Given the description of an element on the screen output the (x, y) to click on. 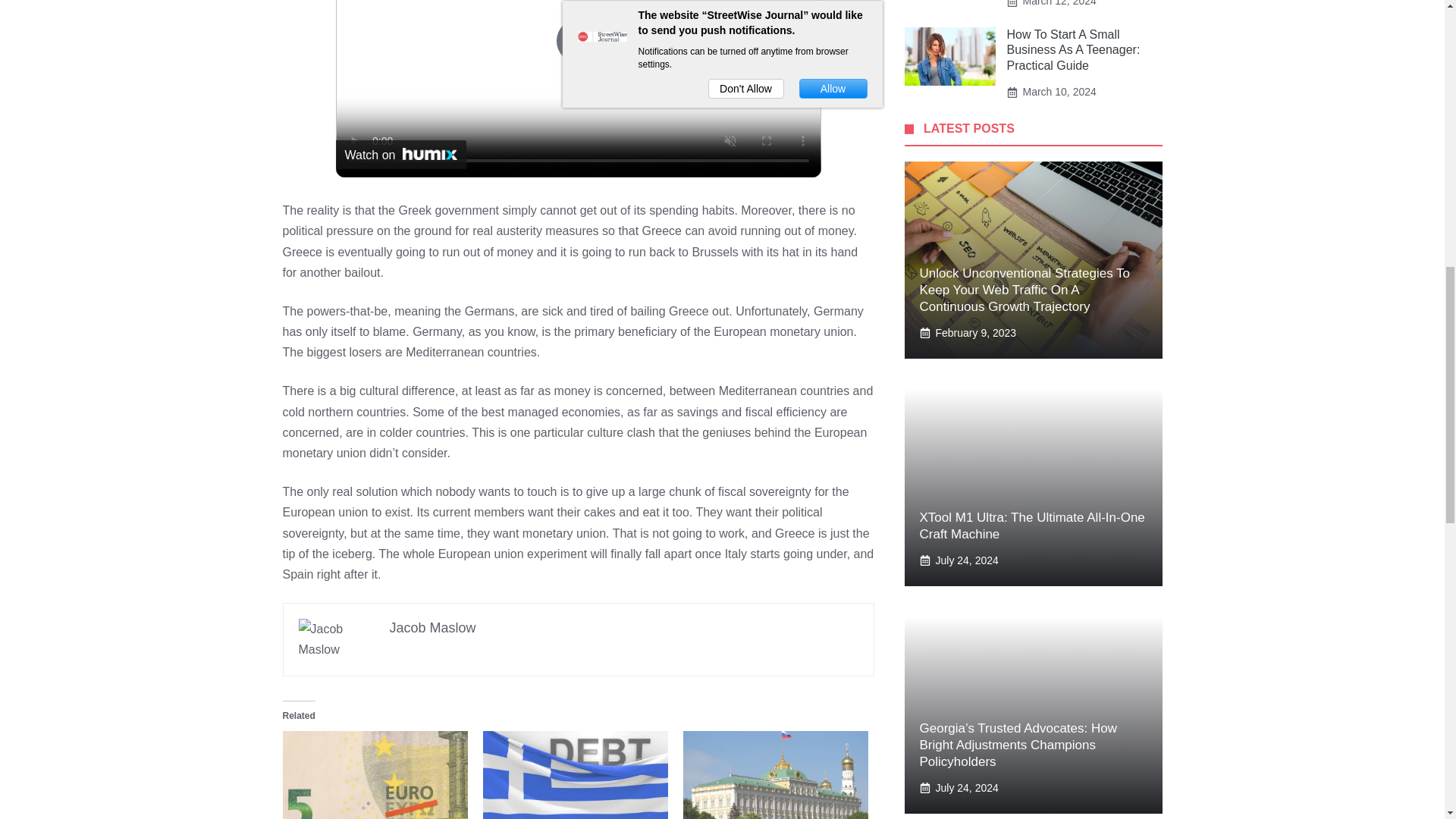
Watch on (399, 154)
Scroll back to top (1406, 720)
Russia is the Greek Ace in the Hole? (774, 775)
Play Video (576, 40)
Jacob Maslow (433, 627)
Greek Drama Continues to Drag Down the Market (374, 775)
Play Video (576, 40)
Bank of England Plans for Greek Eurozone Exit (573, 775)
